Given the description of an element on the screen output the (x, y) to click on. 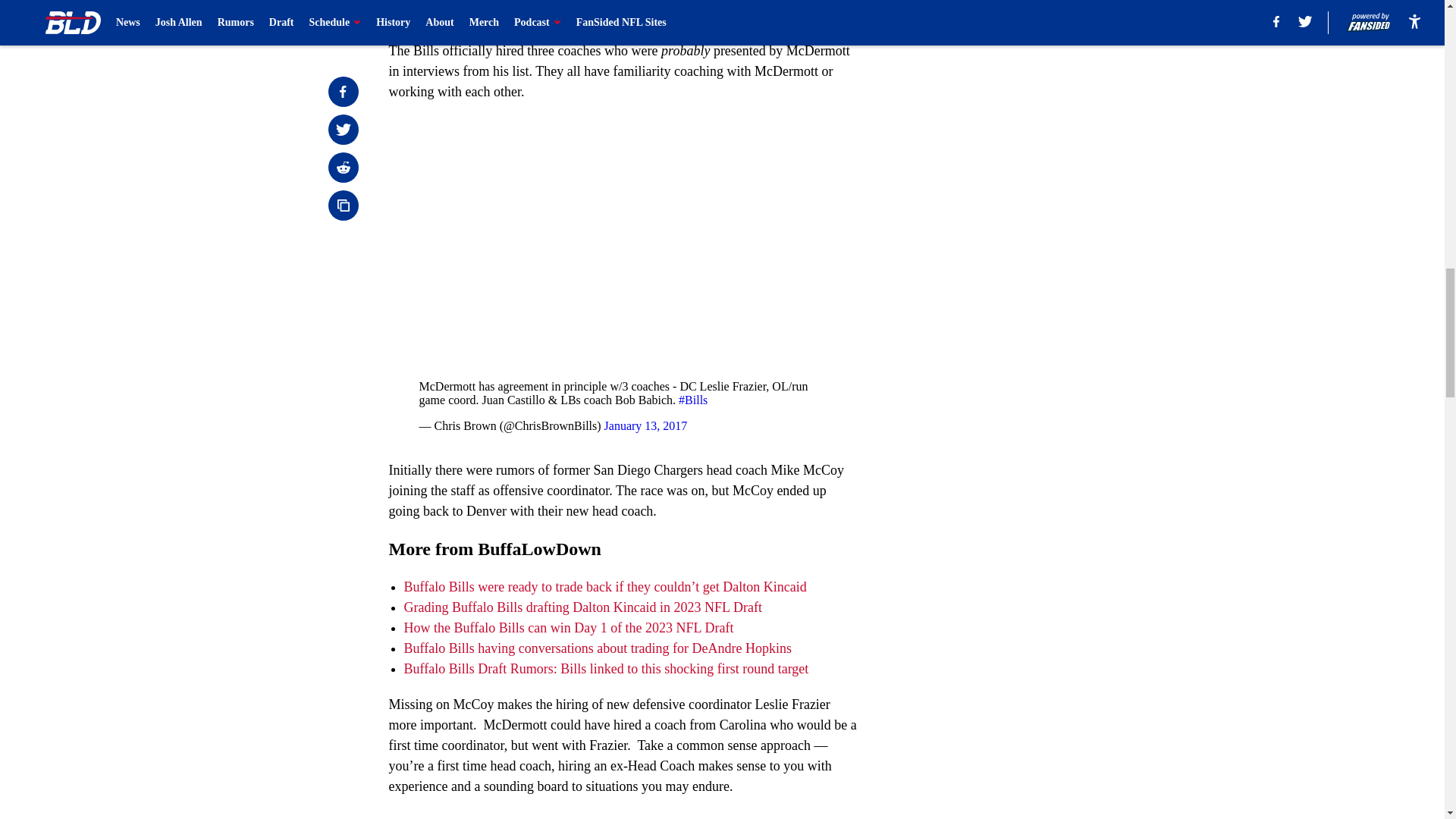
January 13, 2017 (645, 425)
How the Buffalo Bills can win Day 1 of the 2023 NFL Draft (568, 627)
